Given the description of an element on the screen output the (x, y) to click on. 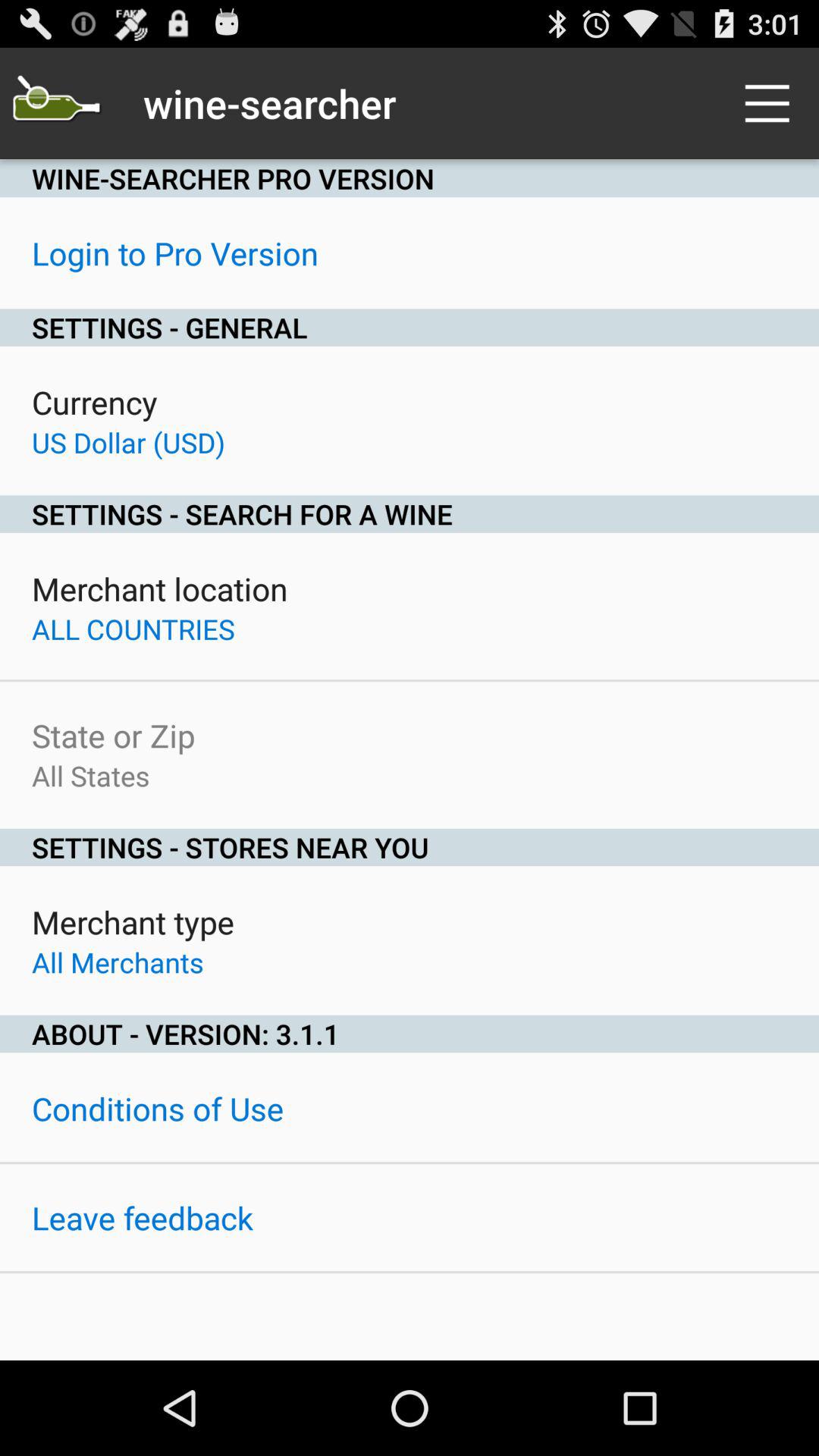
click the icon above the all countries icon (159, 588)
